Given the description of an element on the screen output the (x, y) to click on. 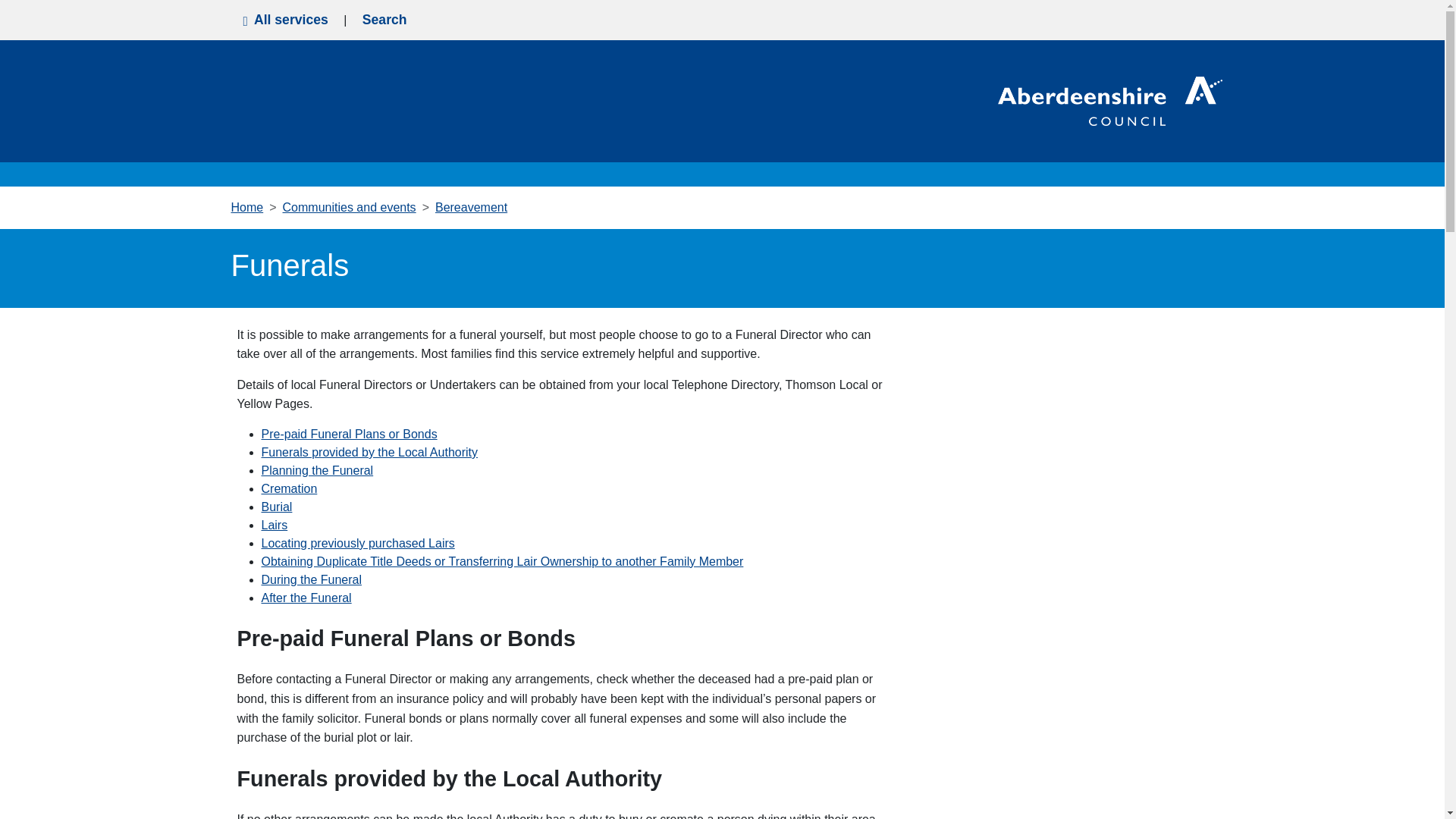
Lairs (273, 524)
Search (384, 20)
Funerals provided by the Local Authority (368, 451)
Pre-paid Funeral Plans or Bonds (348, 433)
Bereavement (470, 205)
Burial (276, 506)
During the Funeral (310, 579)
Home (246, 205)
Cremation (288, 488)
